Given the description of an element on the screen output the (x, y) to click on. 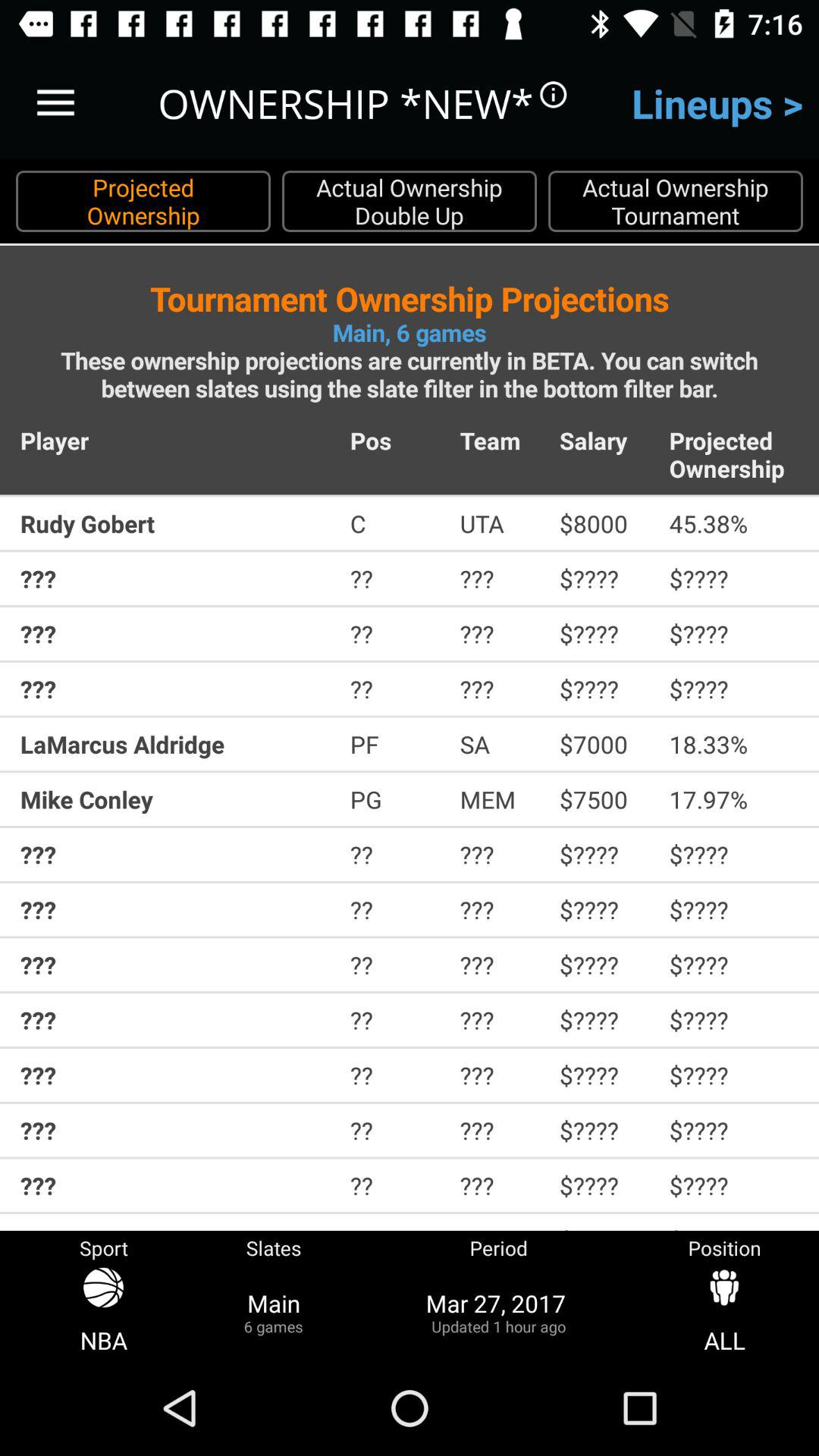
click item to the left of the pg (175, 799)
